Given the description of an element on the screen output the (x, y) to click on. 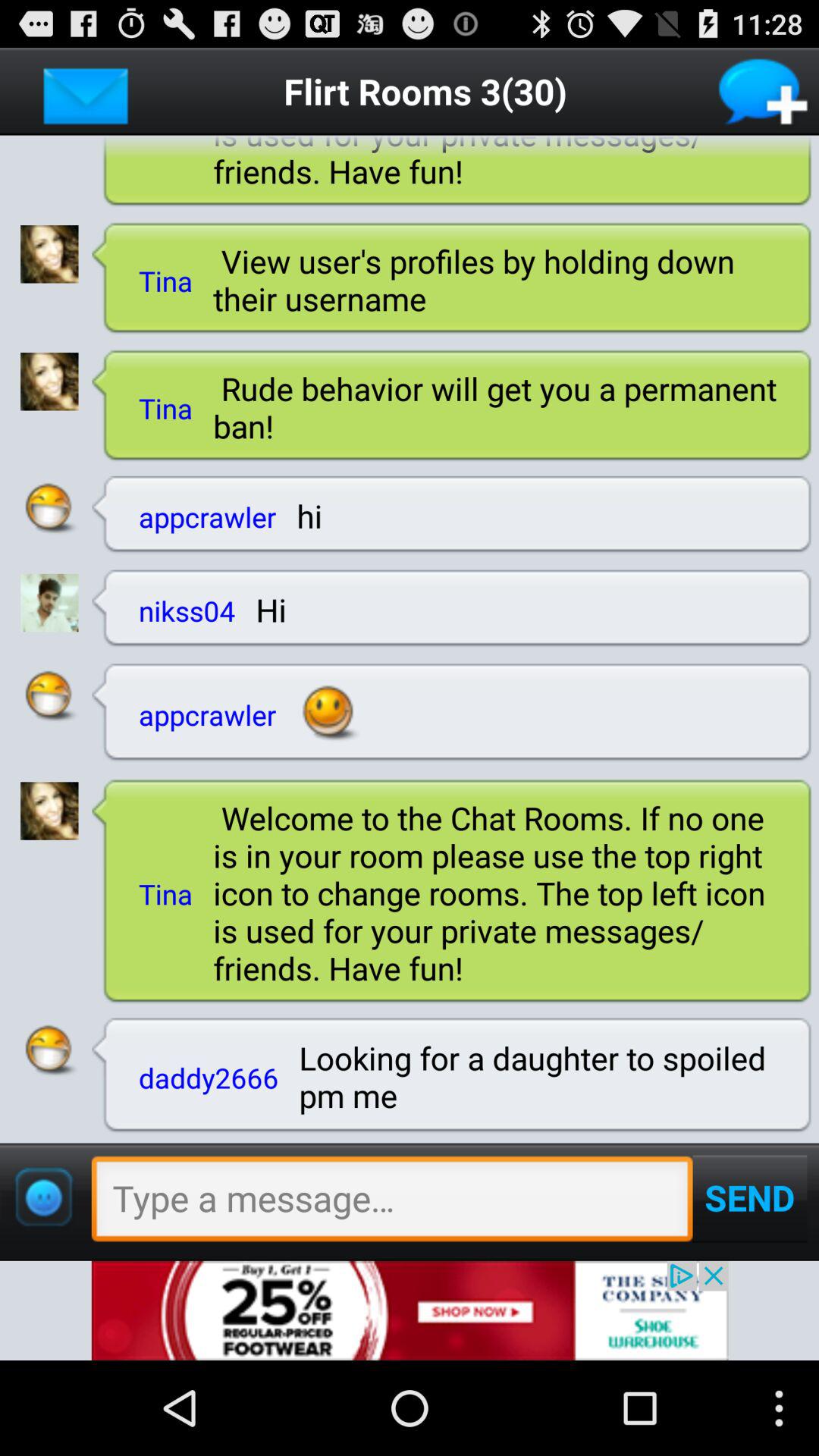
chatting symbol (49, 696)
